Given the description of an element on the screen output the (x, y) to click on. 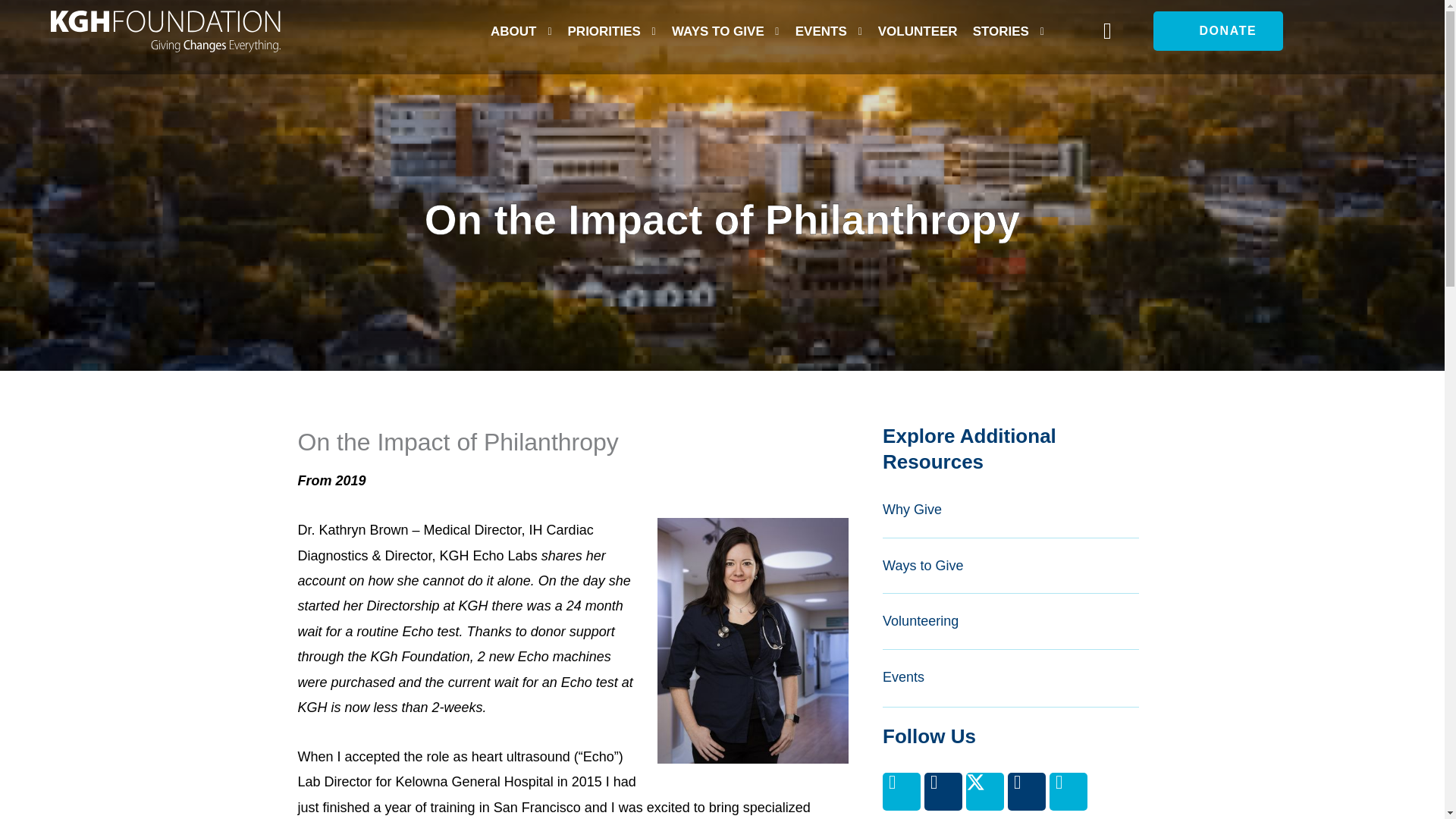
ABOUT (510, 31)
STORIES (997, 31)
EVENTS (817, 31)
WAYS TO GIVE (714, 31)
PRIORITIES (601, 31)
VOLUNTEER (914, 31)
